Given the description of an element on the screen output the (x, y) to click on. 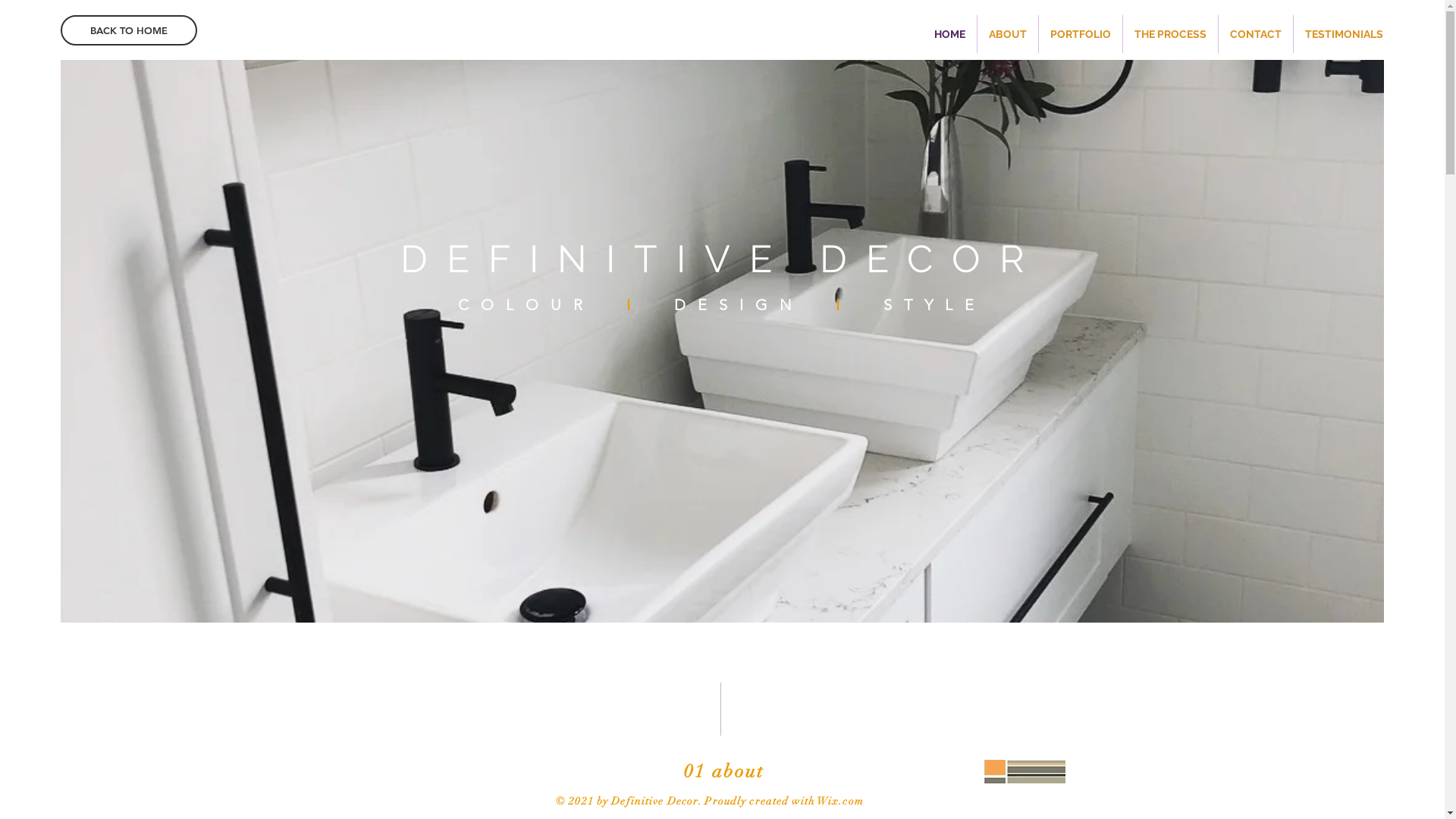
TESTIMONIALS Element type: text (1343, 34)
HOME Element type: text (949, 34)
THE PROCESS Element type: text (1170, 34)
CONTACT Element type: text (1255, 34)
Wix.com Element type: text (840, 800)
BACK TO HOME Element type: text (128, 30)
PORTFOLIO Element type: text (1080, 34)
ABOUT Element type: text (1007, 34)
